Given the description of an element on the screen output the (x, y) to click on. 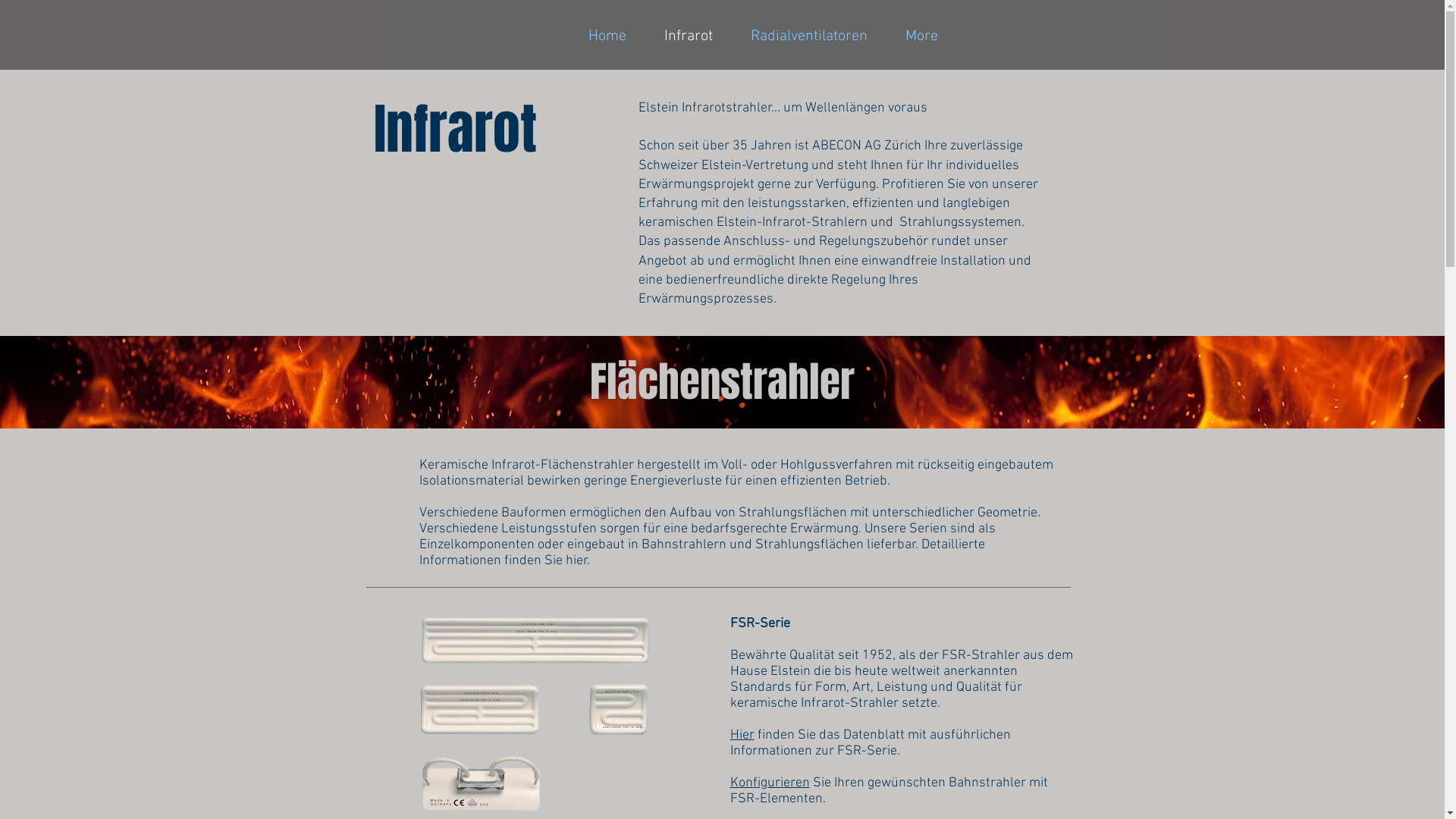
Datenblatt Element type: text (873, 735)
hier Element type: text (576, 560)
Infrarot Element type: text (687, 34)
FSR-Serie Element type: text (759, 623)
Hier Element type: text (741, 735)
Konfigurieren Element type: text (769, 782)
Home Element type: text (606, 34)
Radialventilatoren Element type: text (808, 34)
